Given the description of an element on the screen output the (x, y) to click on. 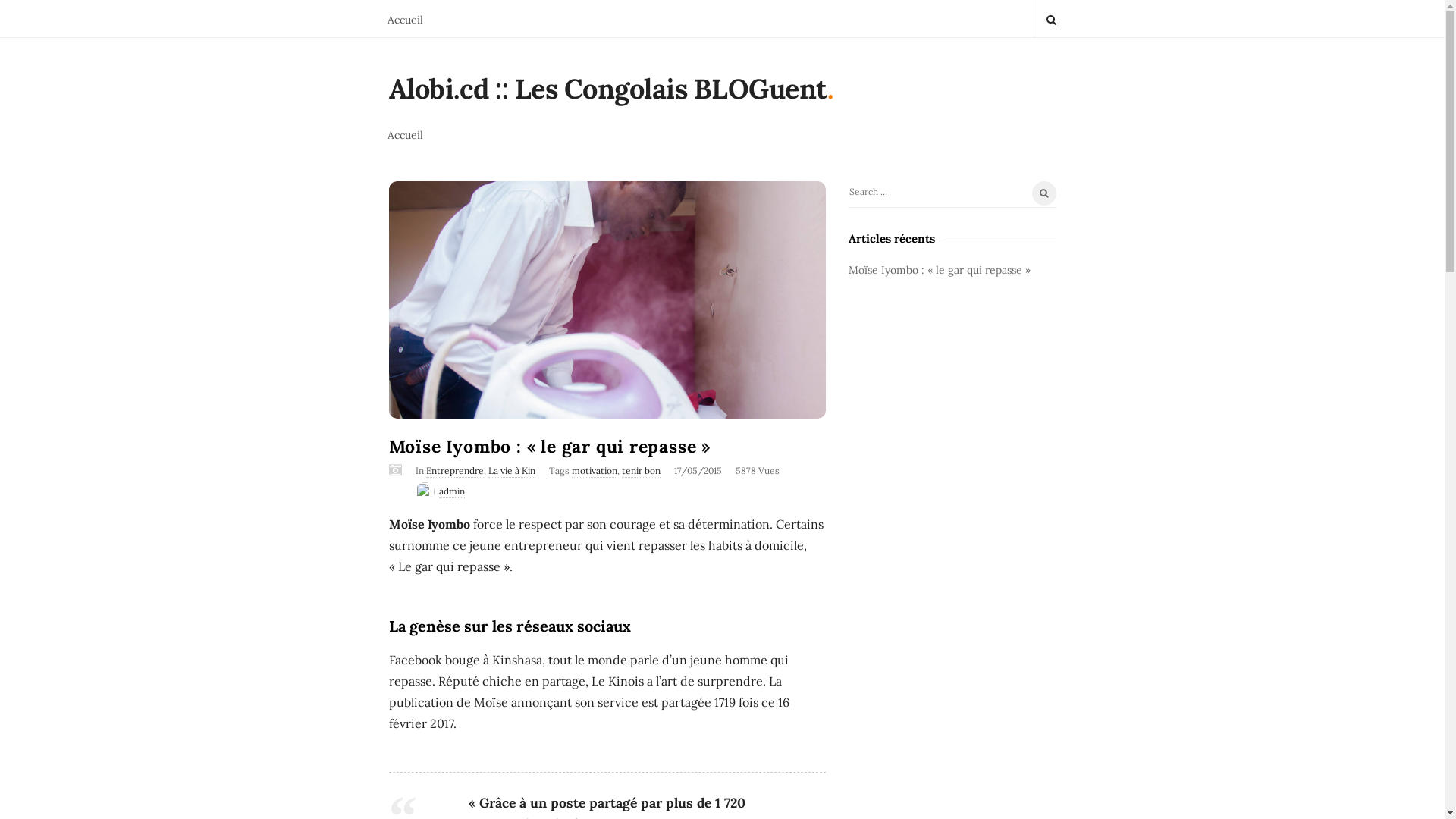
Search for: Element type: hover (951, 194)
Accueil Element type: text (404, 18)
admin Element type: text (451, 491)
motivation Element type: text (594, 470)
tenir bon Element type: text (640, 470)
Accueil Element type: text (404, 133)
Alobi.cd :: Les Congolais BLOGuent Element type: text (607, 92)
Entreprendre Element type: text (454, 470)
